Given the description of an element on the screen output the (x, y) to click on. 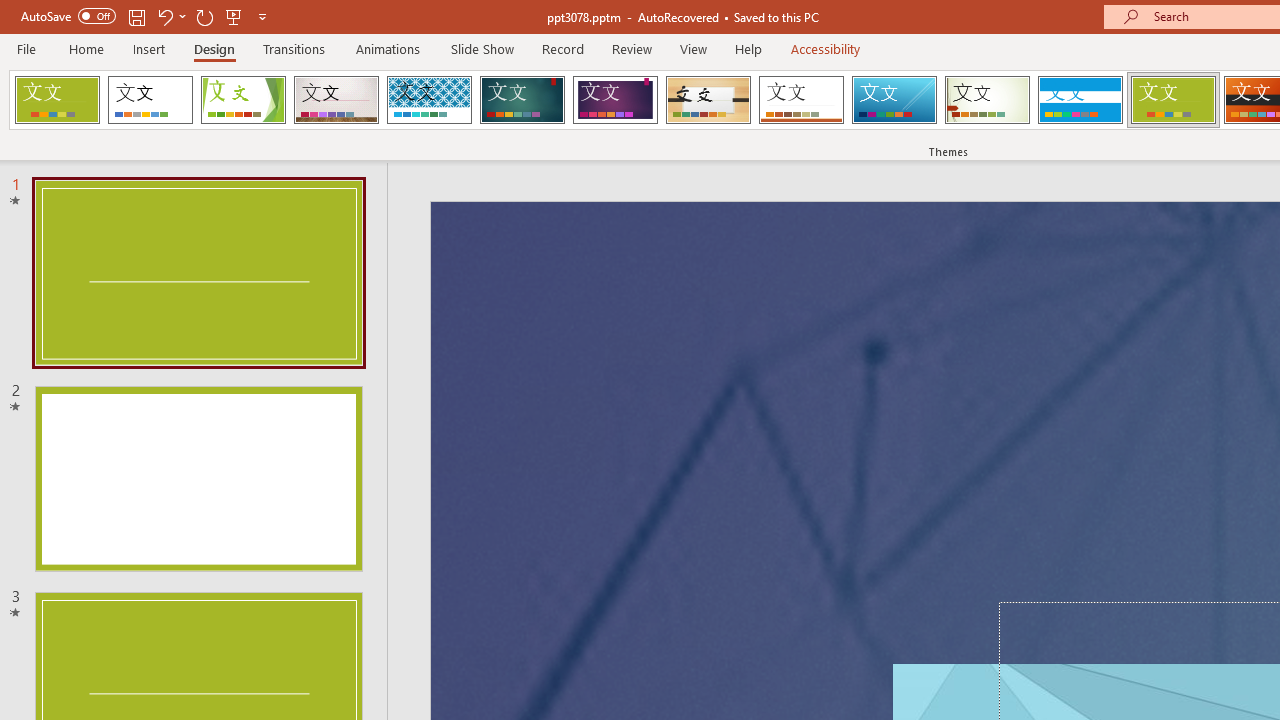
Facet (243, 100)
Ion Boardroom (615, 100)
Wisp (987, 100)
Banded (1080, 100)
Office Theme (150, 100)
Retrospect (801, 100)
